Given the description of an element on the screen output the (x, y) to click on. 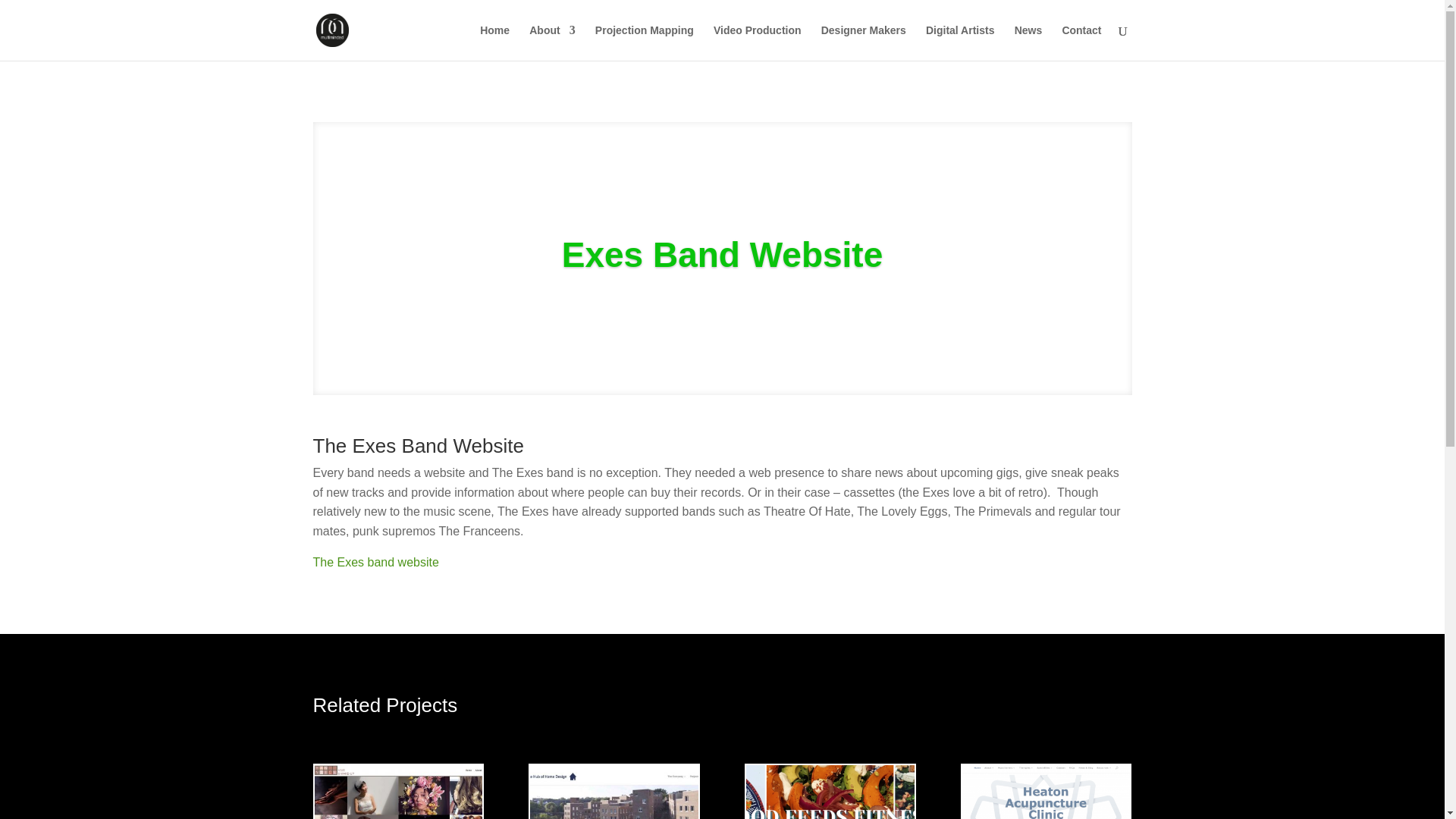
Video Production (757, 42)
Digital Artists (960, 42)
Bethan Prentice Film and TV Make-up Artist (397, 791)
Design For Homes Website And Animated Logo (613, 791)
The Exes band website (375, 562)
Food Feeds Fitness Website (829, 791)
Contact (1080, 42)
Projection Mapping (644, 42)
About (552, 42)
Designer Makers (863, 42)
